Given the description of an element on the screen output the (x, y) to click on. 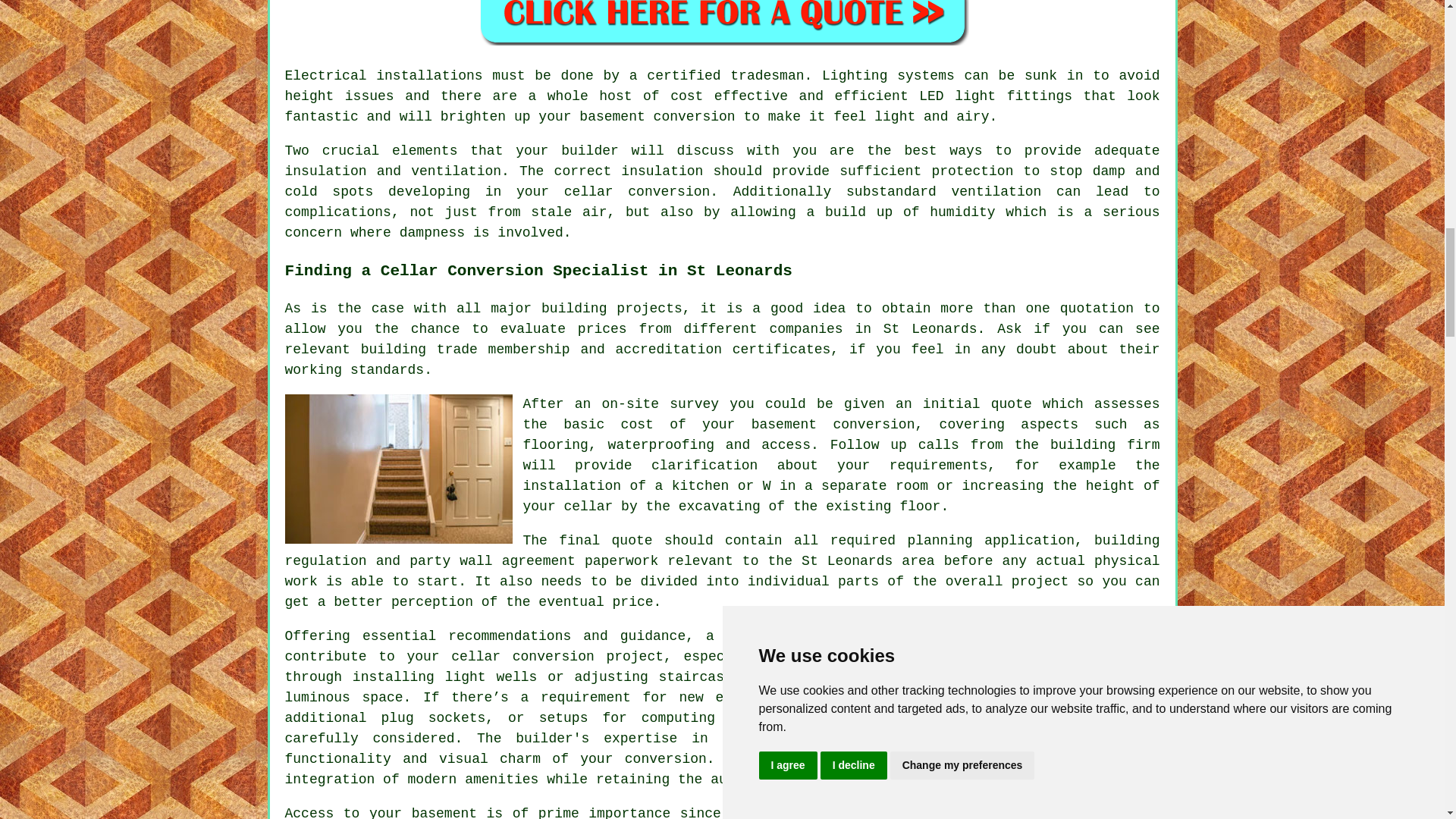
conversion (1070, 779)
cellar conversion (522, 656)
Cellar Conversion Specialist Quotes in St Leonards Dorset (722, 22)
